Given the description of an element on the screen output the (x, y) to click on. 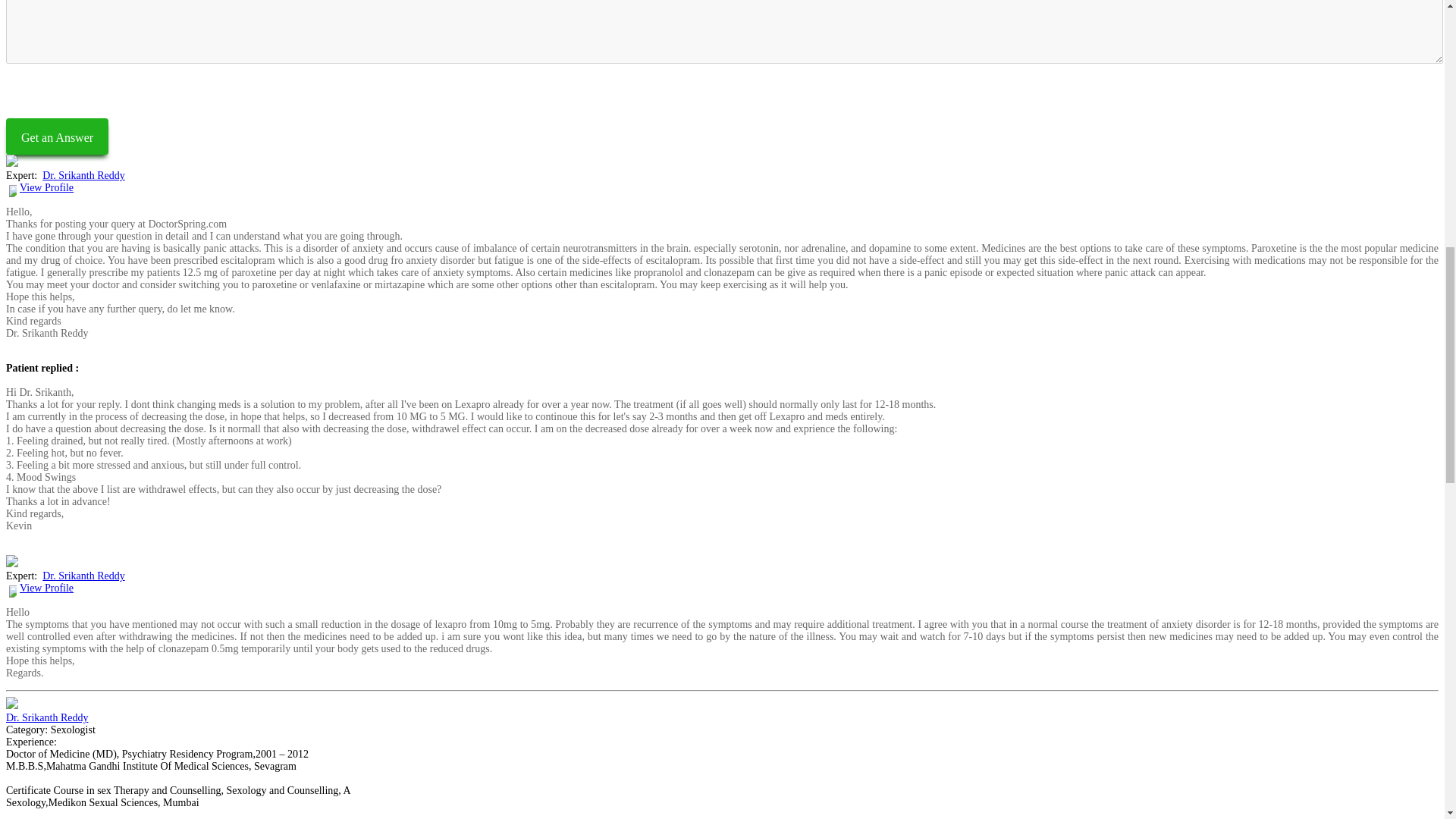
Dr. Srikanth Reddy (83, 174)
View Profile (47, 187)
Get an Answer (56, 135)
Get an Answer (56, 135)
Dr. Srikanth Reddy (46, 717)
View Profile (47, 587)
Dr. Srikanth Reddy (83, 575)
